Given the description of an element on the screen output the (x, y) to click on. 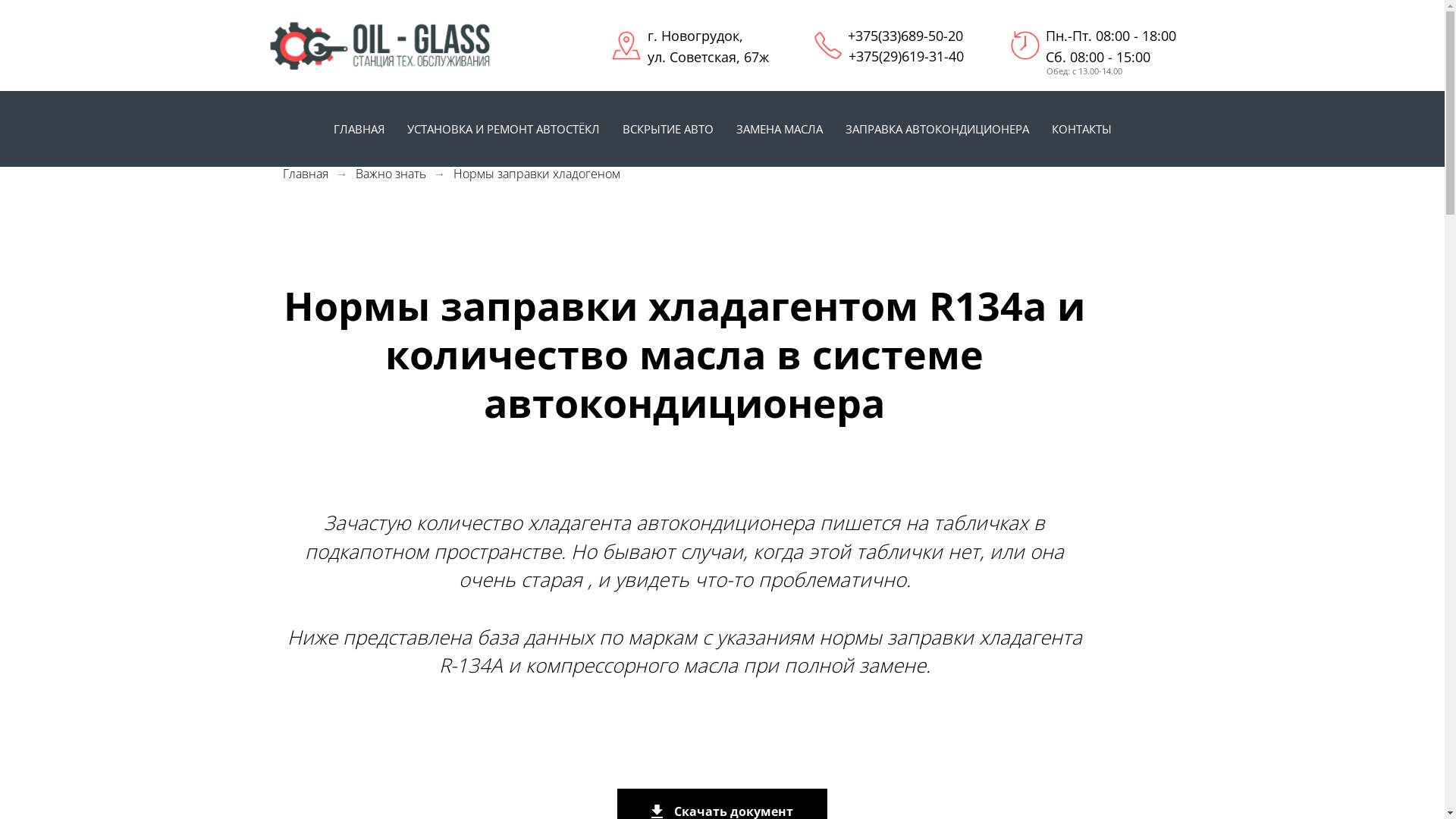
+375(29)619-31-40 Element type: text (905, 56)
+375(33)689-50-20 Element type: text (905, 35)
